Given the description of an element on the screen output the (x, y) to click on. 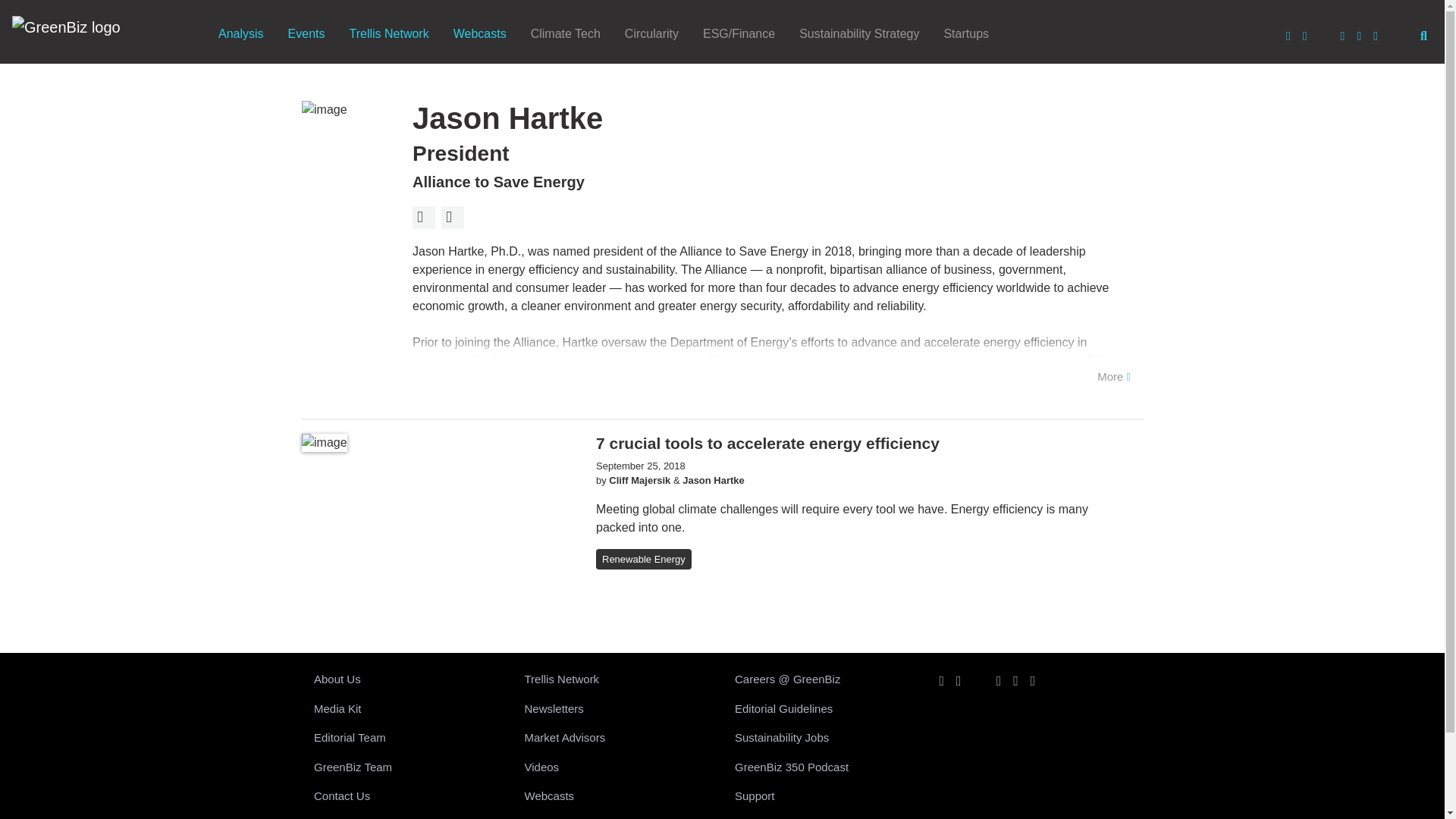
Startups (966, 34)
More (1113, 376)
Sustainability Strategy (859, 34)
Information on GreenBiz Peer Network Offerings (617, 679)
About GreenBiz Group (406, 679)
Webcasts (479, 34)
Trellis Network (388, 34)
Analysis (241, 34)
Jason Hartke linkedin (452, 217)
